Given the description of an element on the screen output the (x, y) to click on. 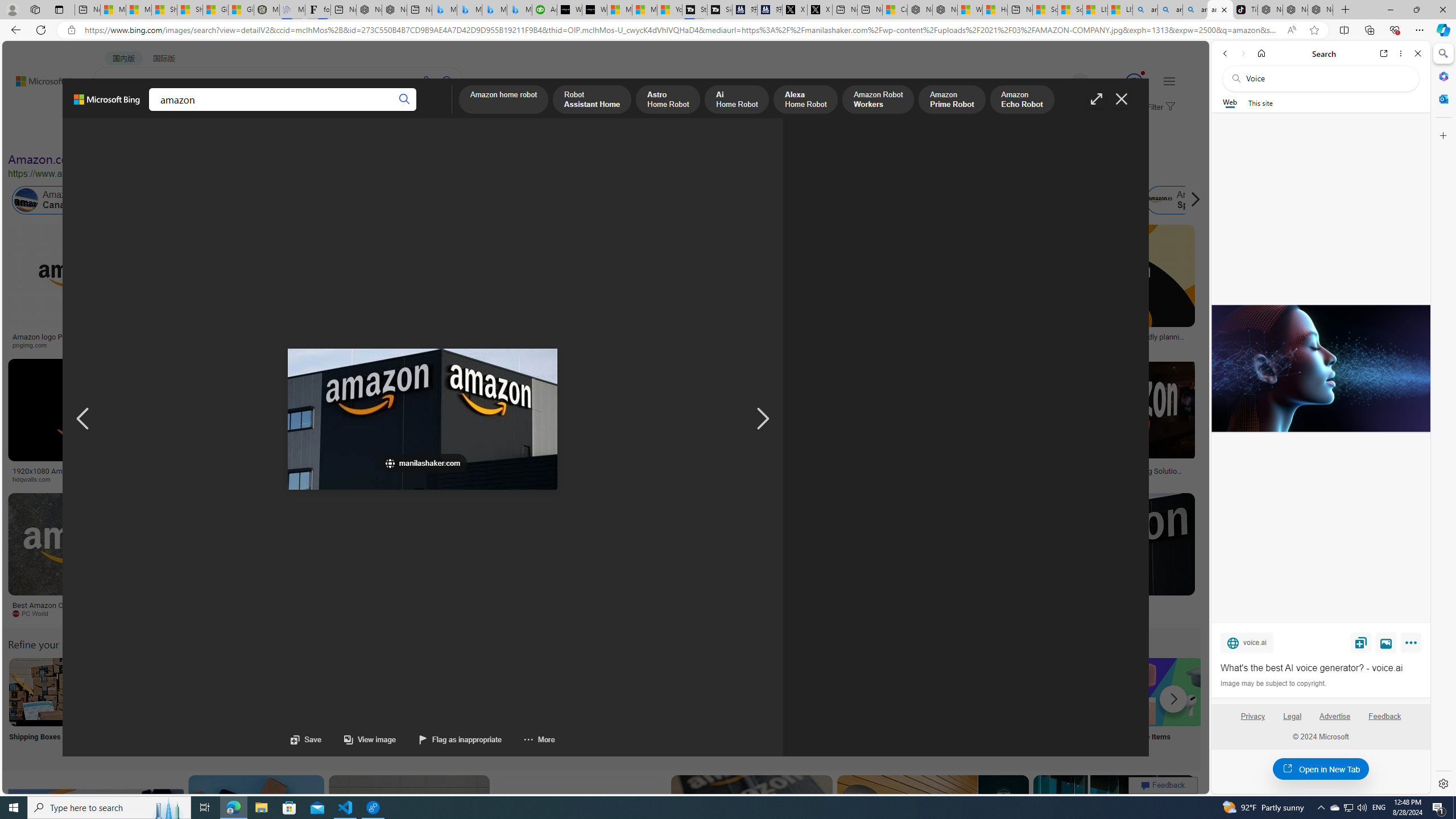
cordcuttersnews.com (860, 612)
Amazon Forest (1023, 199)
Alexa Home Robot (805, 100)
Amazon Prime Online (172, 199)
vecteezy.com (908, 479)
Save (1361, 642)
Open link in new tab (1383, 53)
This site scope (1259, 102)
